Given the description of an element on the screen output the (x, y) to click on. 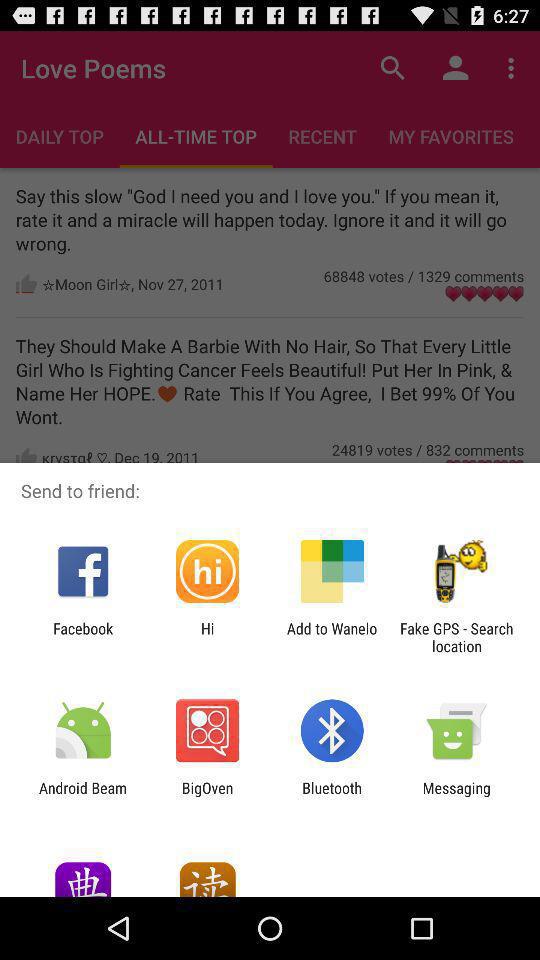
press item to the left of add to wanelo icon (207, 637)
